Given the description of an element on the screen output the (x, y) to click on. 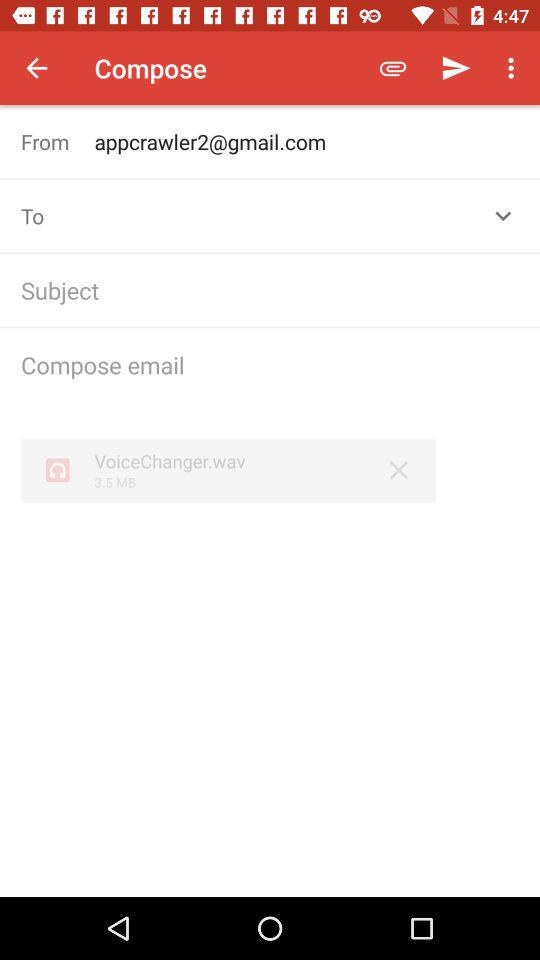
select the icon on the right (398, 469)
